Given the description of an element on the screen output the (x, y) to click on. 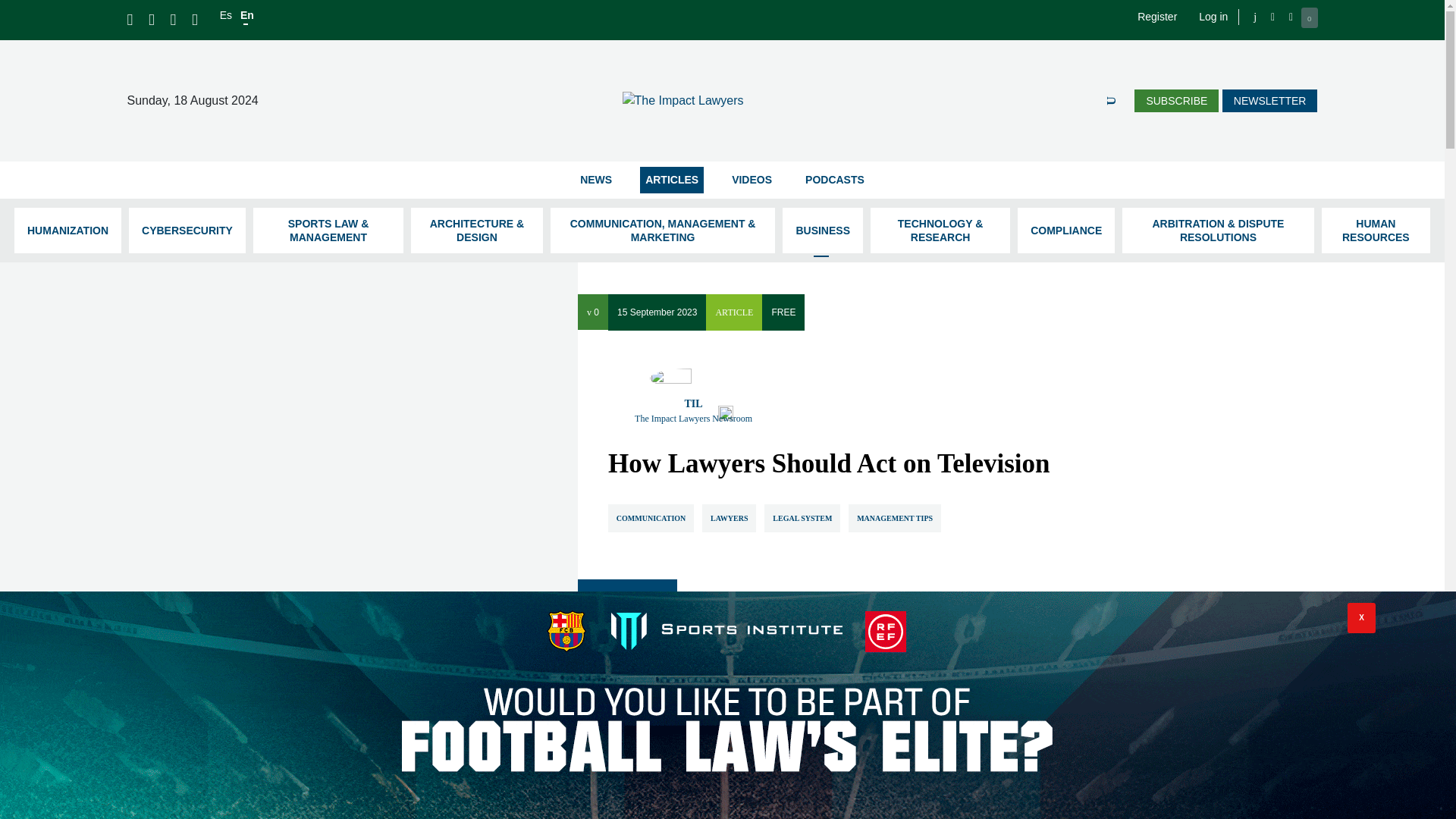
1 (938, 794)
NEWSLETTER (1270, 100)
Es (225, 15)
PODCASTS (834, 180)
BUSINESS (823, 230)
NEWS (596, 180)
Register (1156, 16)
HUMANIZATION (67, 230)
ARTICLES (671, 180)
Log in (1212, 16)
